Given the description of an element on the screen output the (x, y) to click on. 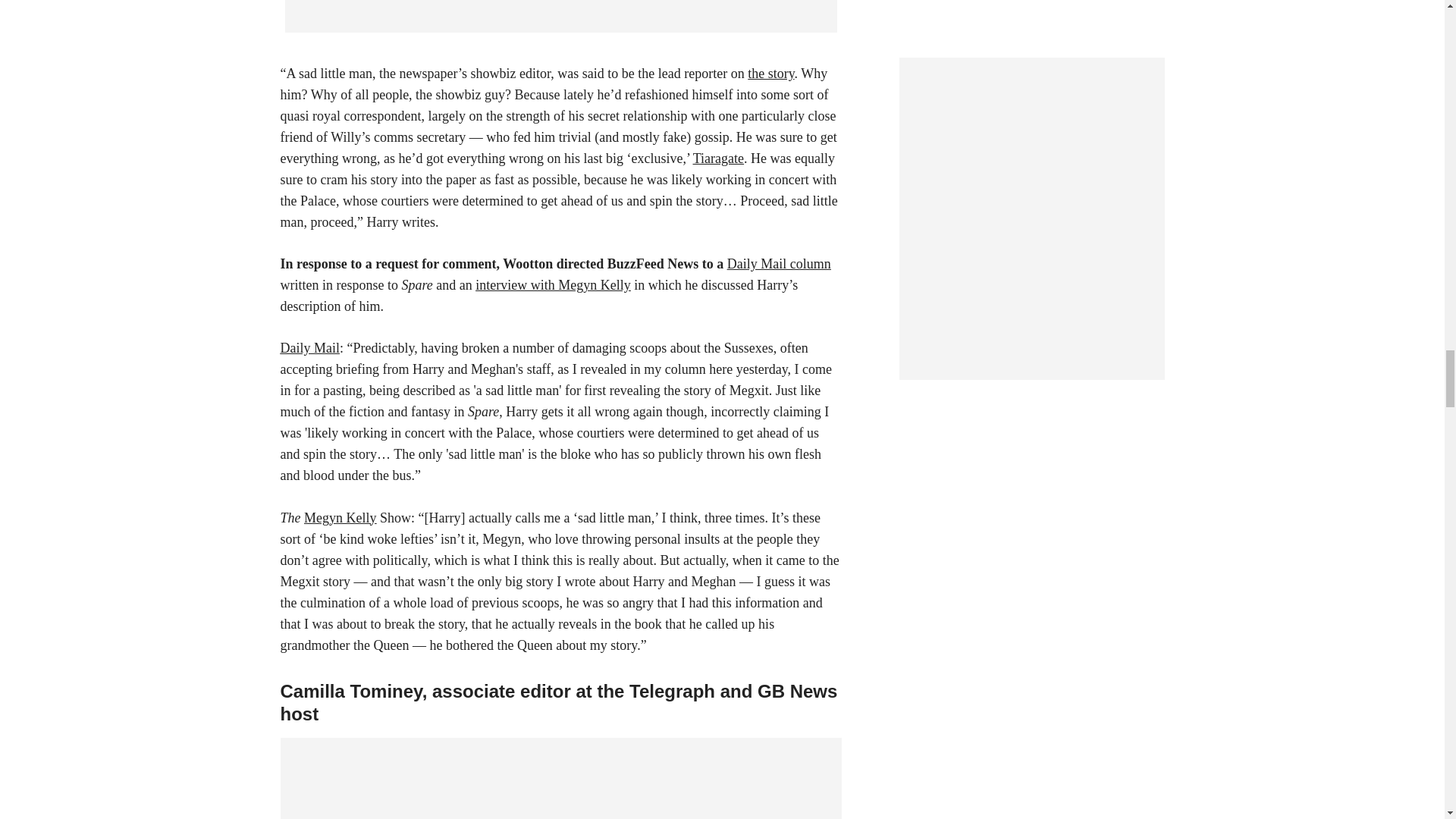
Daily Mail column (778, 263)
Daily Mail (310, 347)
Tiaragate (718, 158)
Megyn Kelly (339, 516)
the story (770, 73)
interview with Megyn Kelly (553, 284)
